Given the description of an element on the screen output the (x, y) to click on. 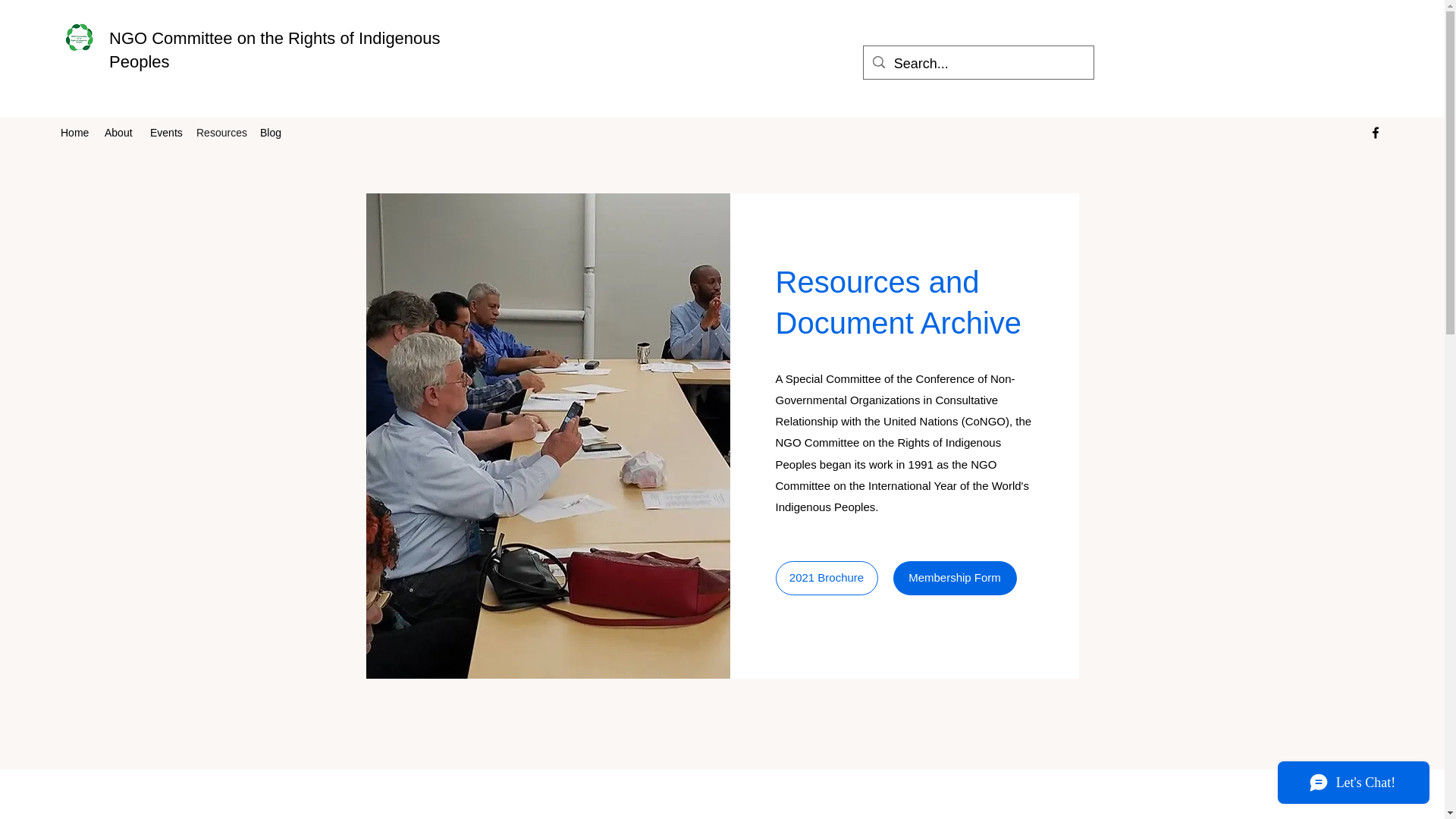
NGO Committee on the Rights of Indigenous Peoples (275, 49)
Events (165, 132)
Membership Form (954, 578)
Home (74, 132)
About (119, 132)
Blog (270, 132)
Resources (220, 132)
